Given the description of an element on the screen output the (x, y) to click on. 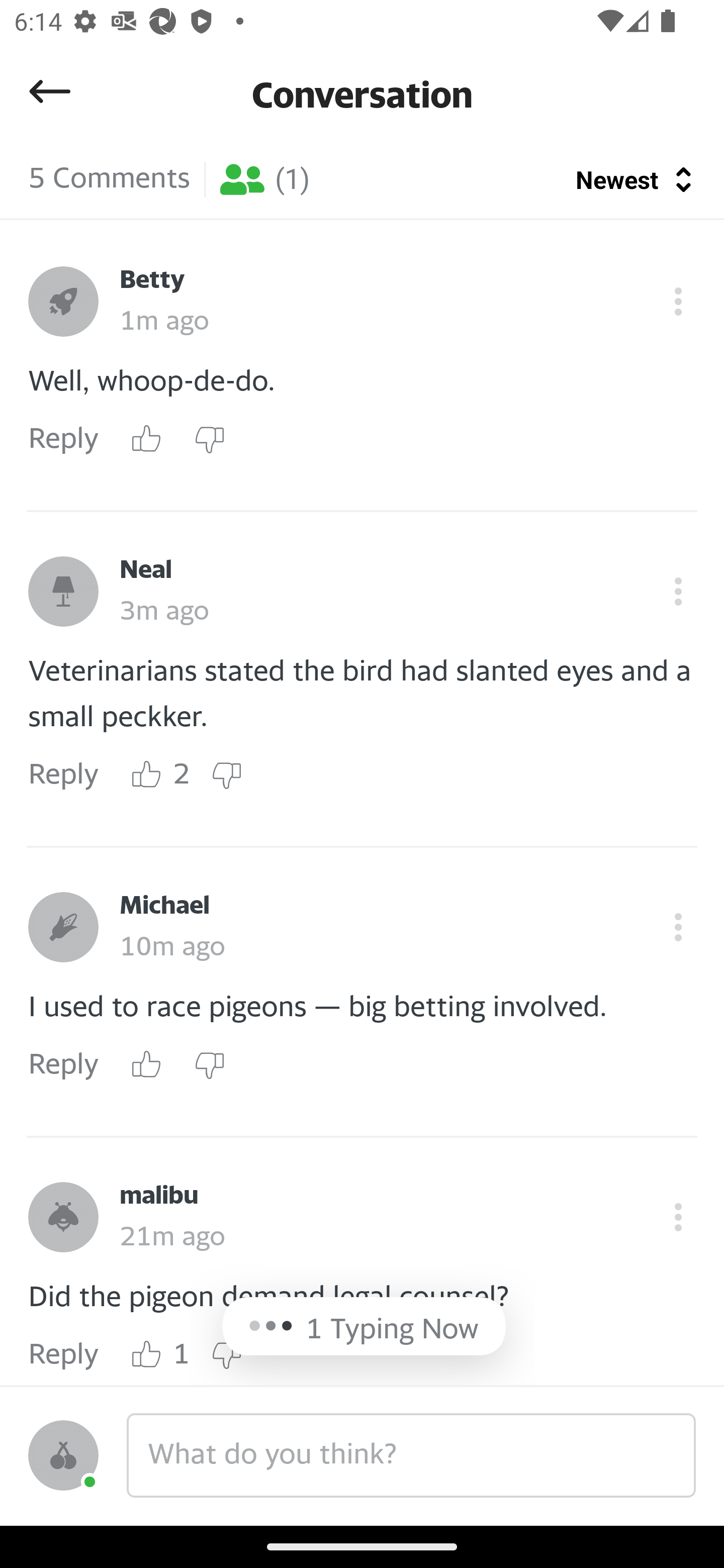
Newest (635, 179)
Profile image (63, 301)
Options menu (677, 301)
Betty (152, 280)
Reply (62, 438)
Up vote button Up vote button Up vote button (146, 438)
Down vote button Down vote button Down vote button (209, 438)
Profile image (63, 591)
Options menu (677, 591)
Neal (145, 570)
Reply (62, 774)
Up vote button Up vote button Up vote button (146, 775)
Down vote button Down vote button Down vote button (226, 775)
Profile image (63, 927)
Options menu (677, 927)
Michael (164, 905)
Reply (62, 1065)
Up vote button Up vote button Up vote button (146, 1064)
Down vote button Down vote button Down vote button (209, 1064)
Profile image (63, 1217)
Options menu (677, 1217)
malibu (158, 1195)
Reply (62, 1354)
Up vote button Up vote button Up vote button (146, 1354)
Down vote button Down vote button Down vote button (226, 1354)
What do you think? (410, 1454)
Profile image (63, 1455)
